Given the description of an element on the screen output the (x, y) to click on. 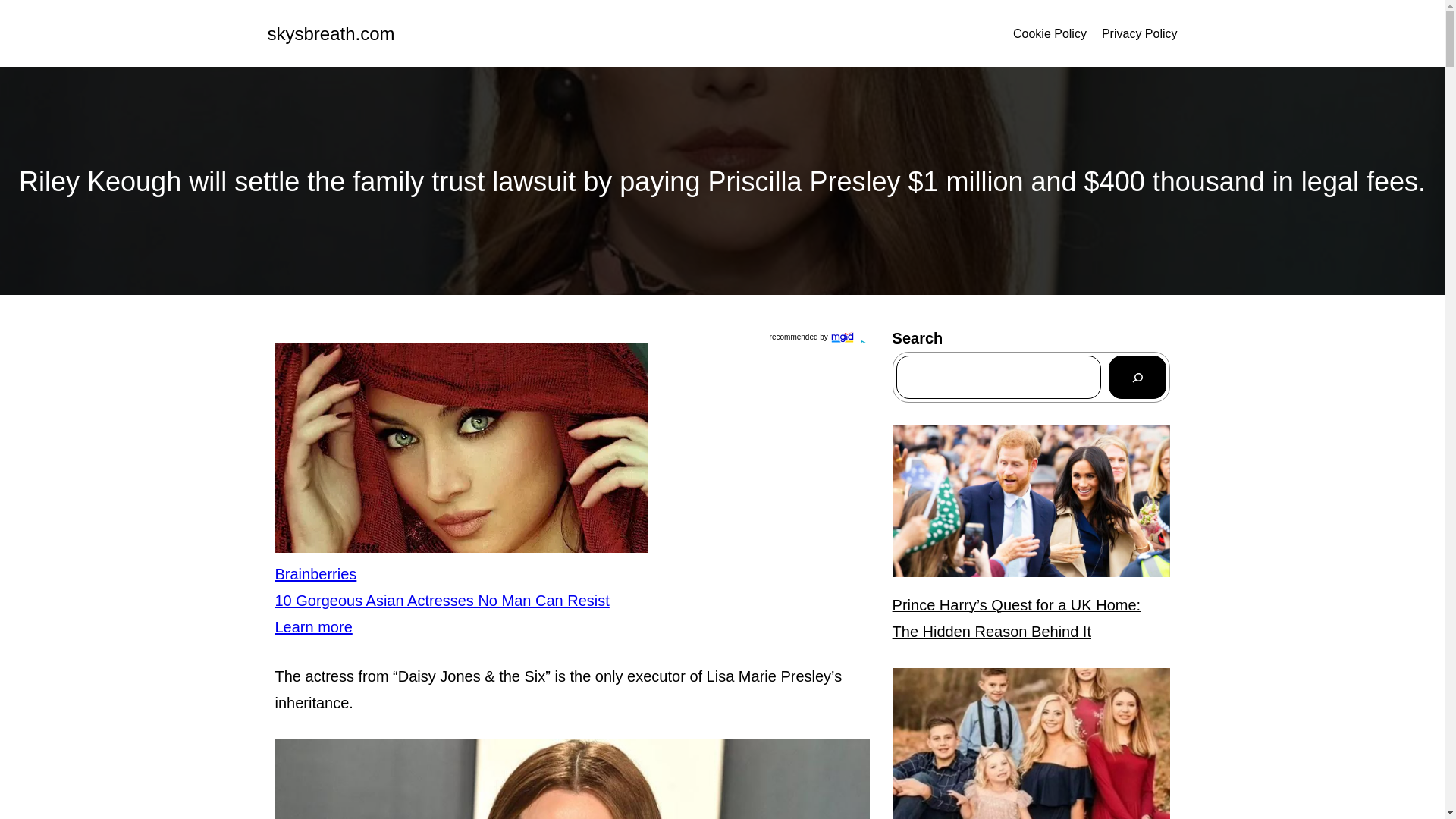
Privacy Policy (1139, 34)
Cookie Policy (1049, 34)
skysbreath.com (330, 33)
